Given the description of an element on the screen output the (x, y) to click on. 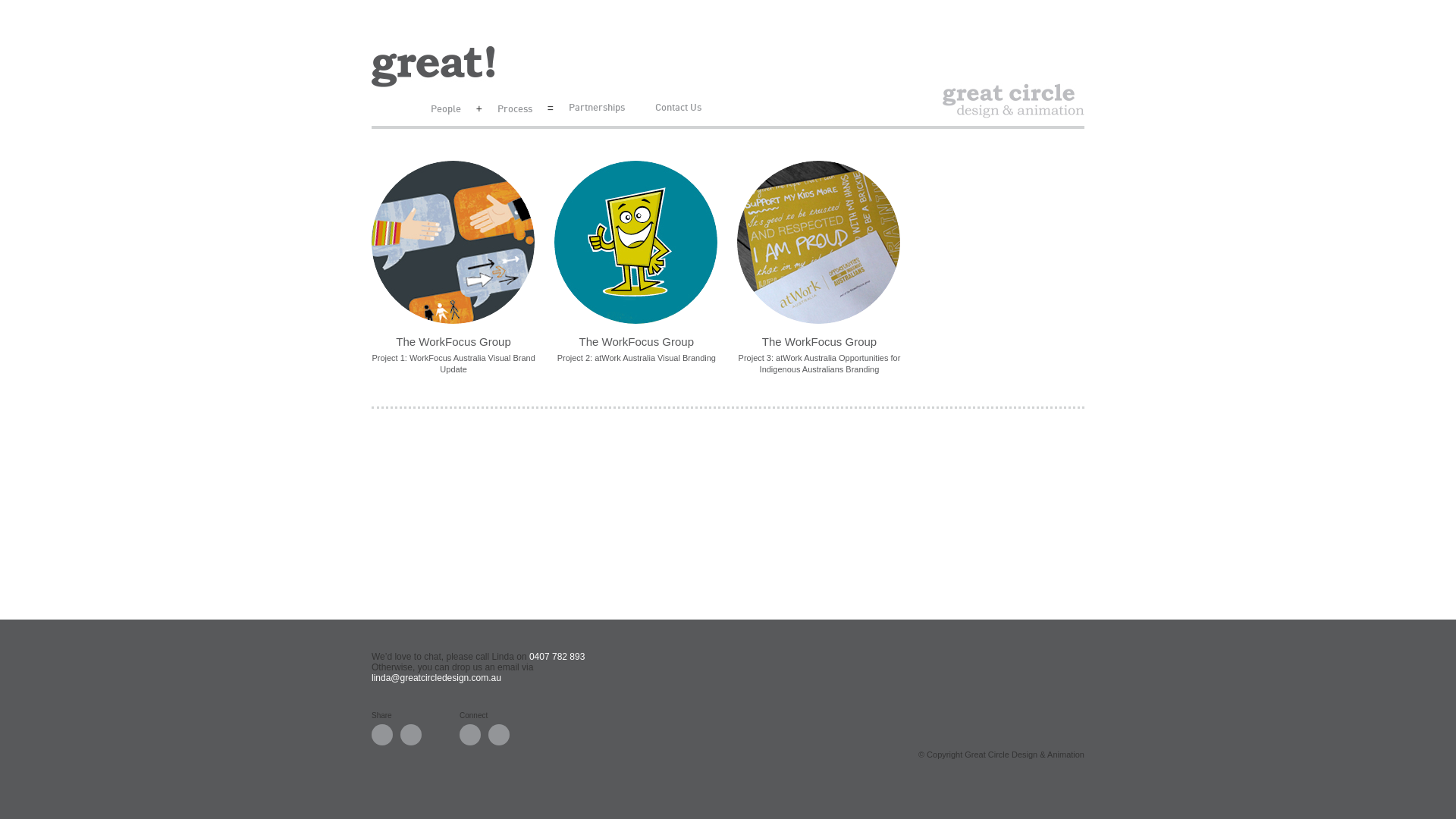
The WorkFocus Group Element type: text (818, 254)
Process Element type: text (514, 109)
Contact Us Element type: text (678, 107)
The WorkFocus Group Element type: text (636, 254)
Partnerships Element type: text (596, 107)
linda@greatcircledesign.com.au Element type: text (436, 677)
People Element type: text (453, 109)
Project 2: atWork Australia Visual Branding Element type: text (636, 358)
Project 1: WorkFocus Australia Visual Brand Update Element type: text (453, 363)
The WorkFocus Group Element type: text (453, 254)
